Given the description of an element on the screen output the (x, y) to click on. 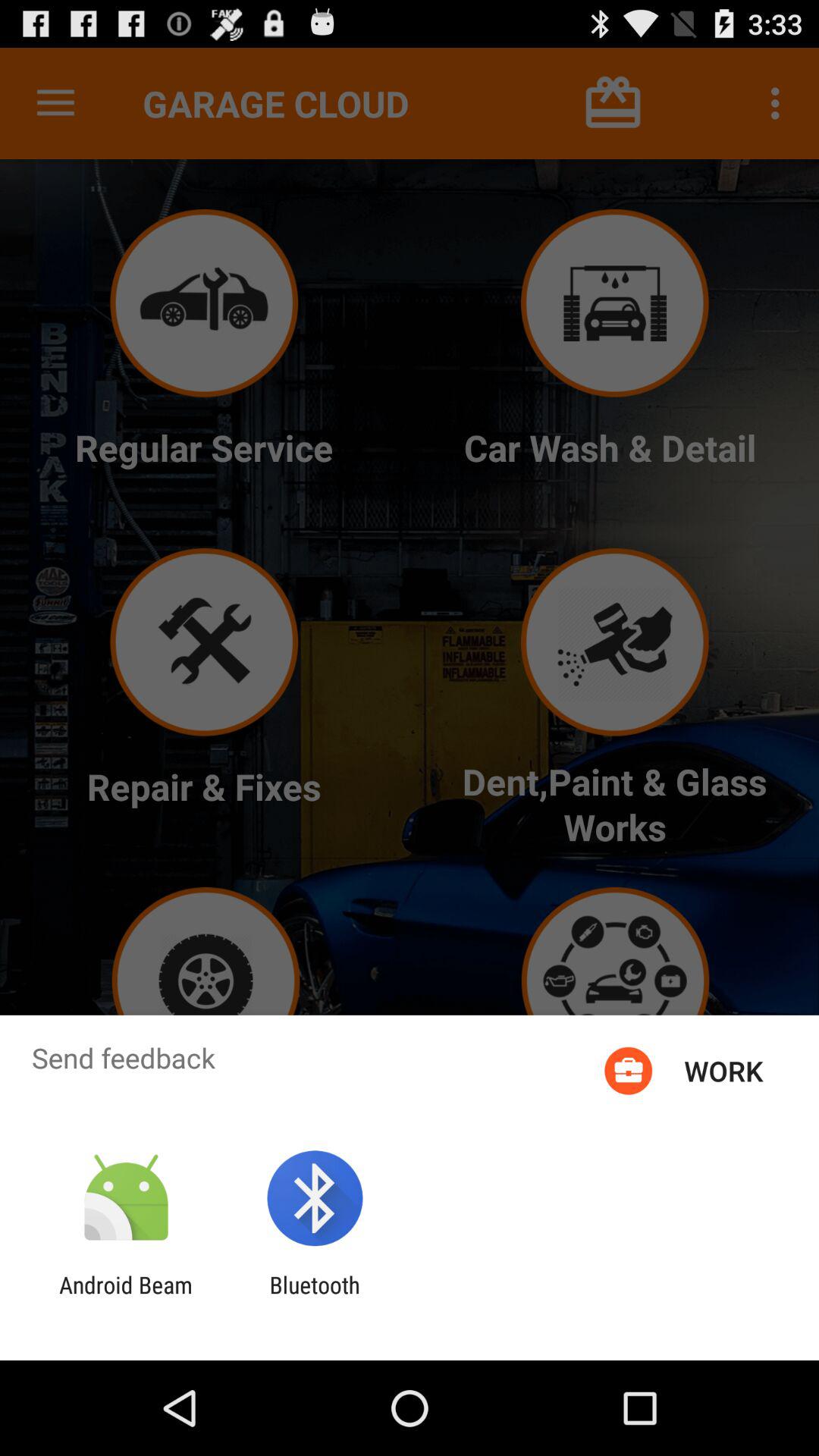
click the item to the left of the bluetooth app (125, 1298)
